Given the description of an element on the screen output the (x, y) to click on. 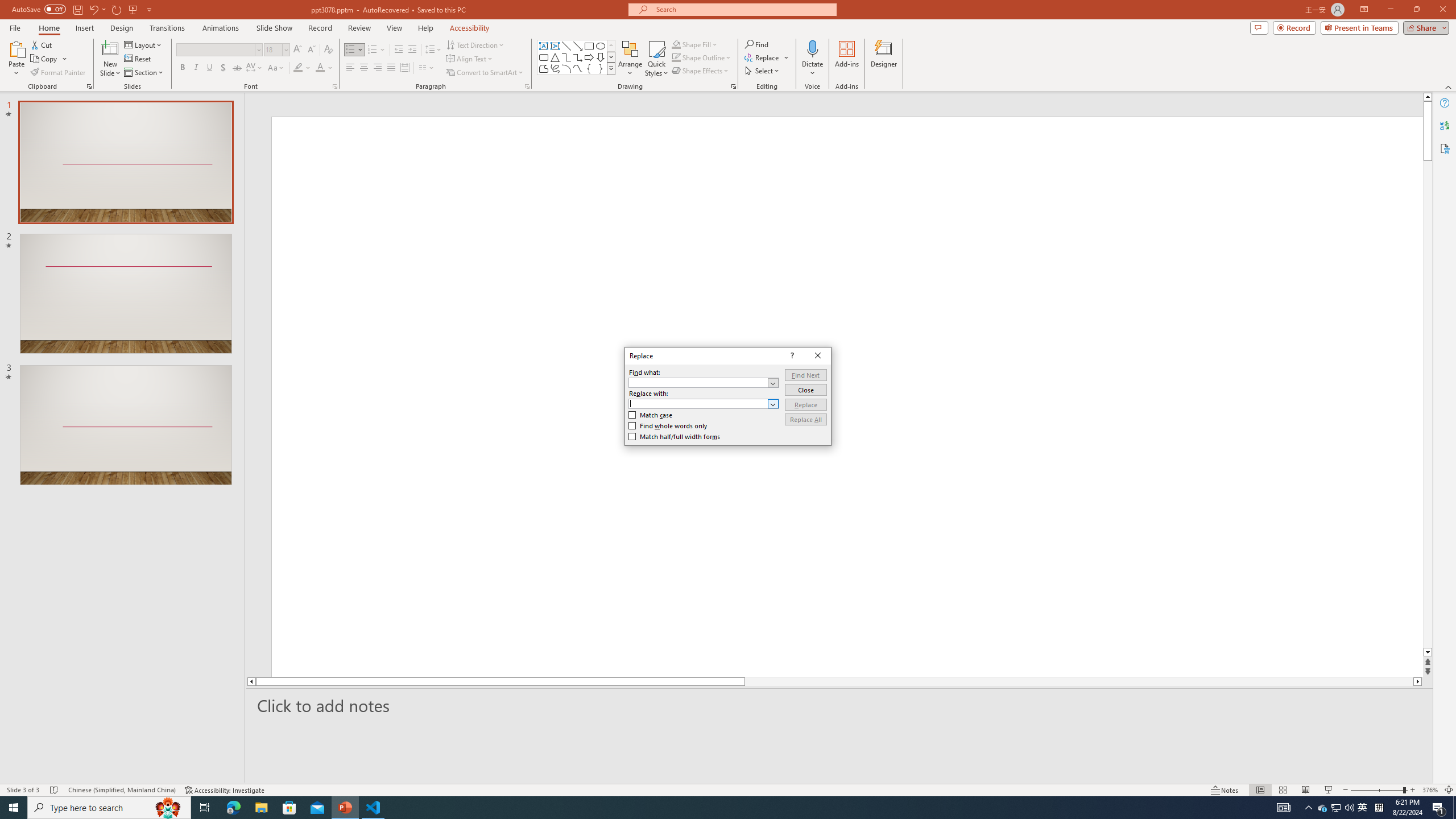
Replace... (767, 56)
Oval (600, 45)
Decrease Font Size (310, 49)
An abstract genetic concept (363, 526)
Replace with (697, 403)
Format Painter (58, 72)
Cut (42, 44)
File Explorer (261, 807)
Font Size (276, 49)
